Given the description of an element on the screen output the (x, y) to click on. 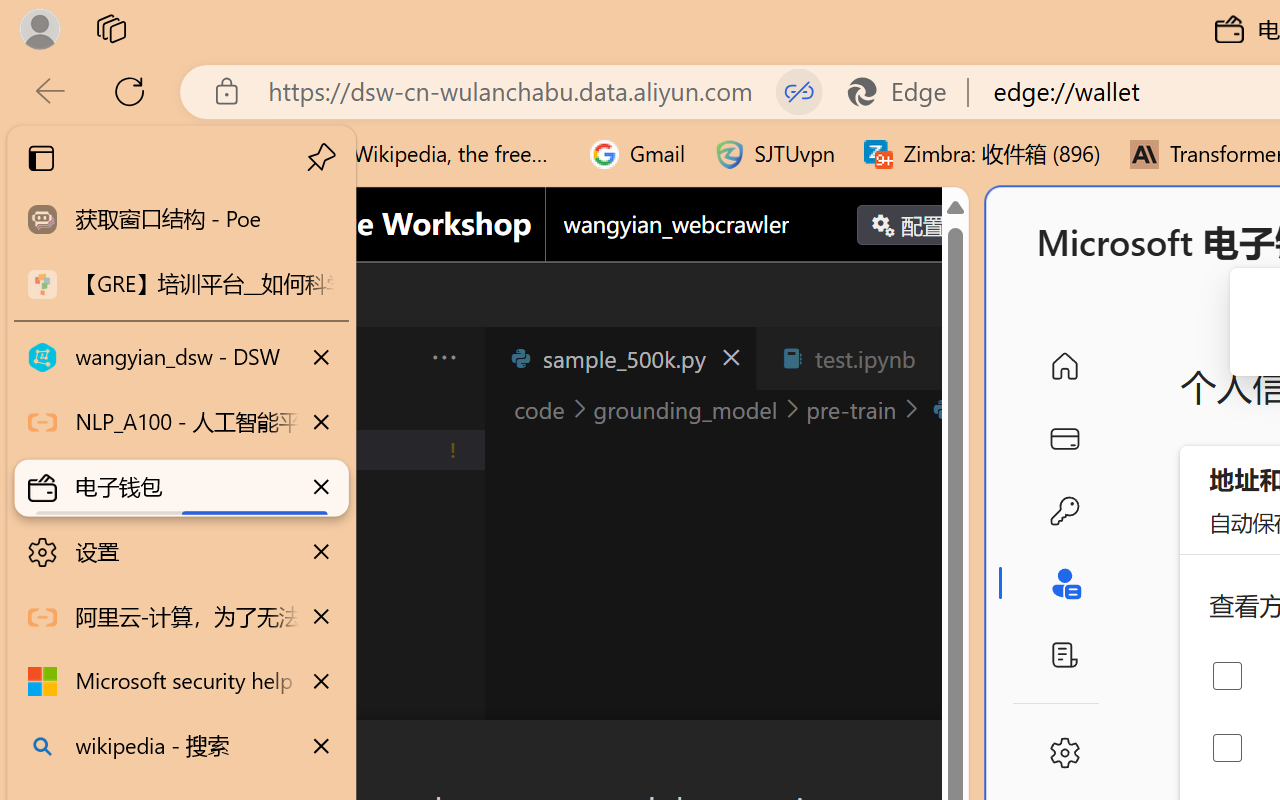
Tab actions (945, 358)
Explorer Section: wangyian (331, 409)
Gmail (637, 154)
Class: menubar compact overflow-menu-only (135, 358)
Microsoft security help and learning (181, 681)
Explorer actions (391, 358)
Source Control (Ctrl+Shift+G) (135, 604)
Search (Ctrl+Shift+F) (135, 519)
